Given the description of an element on the screen output the (x, y) to click on. 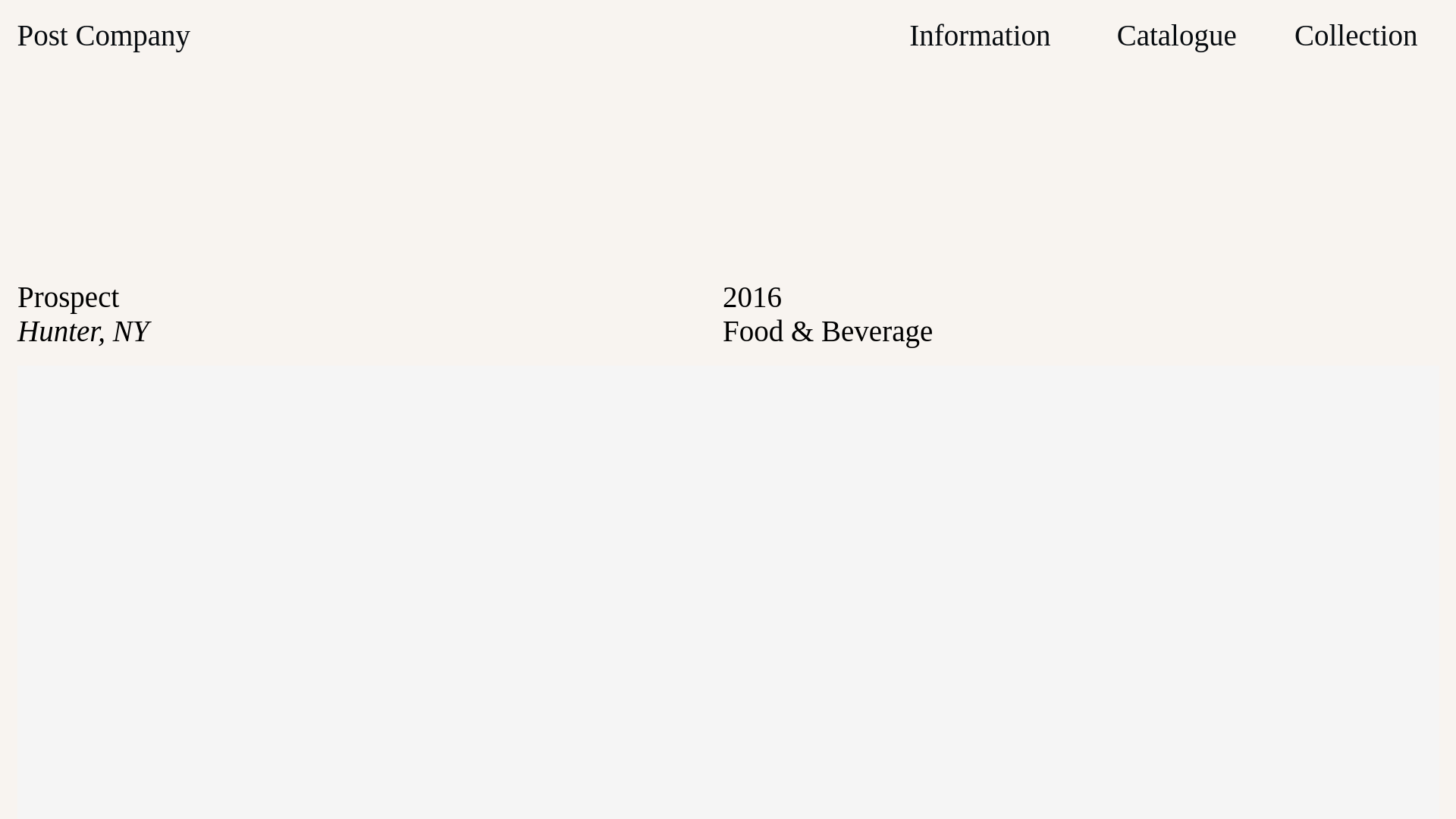
Information (978, 34)
Post Company (103, 35)
Catalogue (1176, 34)
Collection (1355, 34)
